Given the description of an element on the screen output the (x, y) to click on. 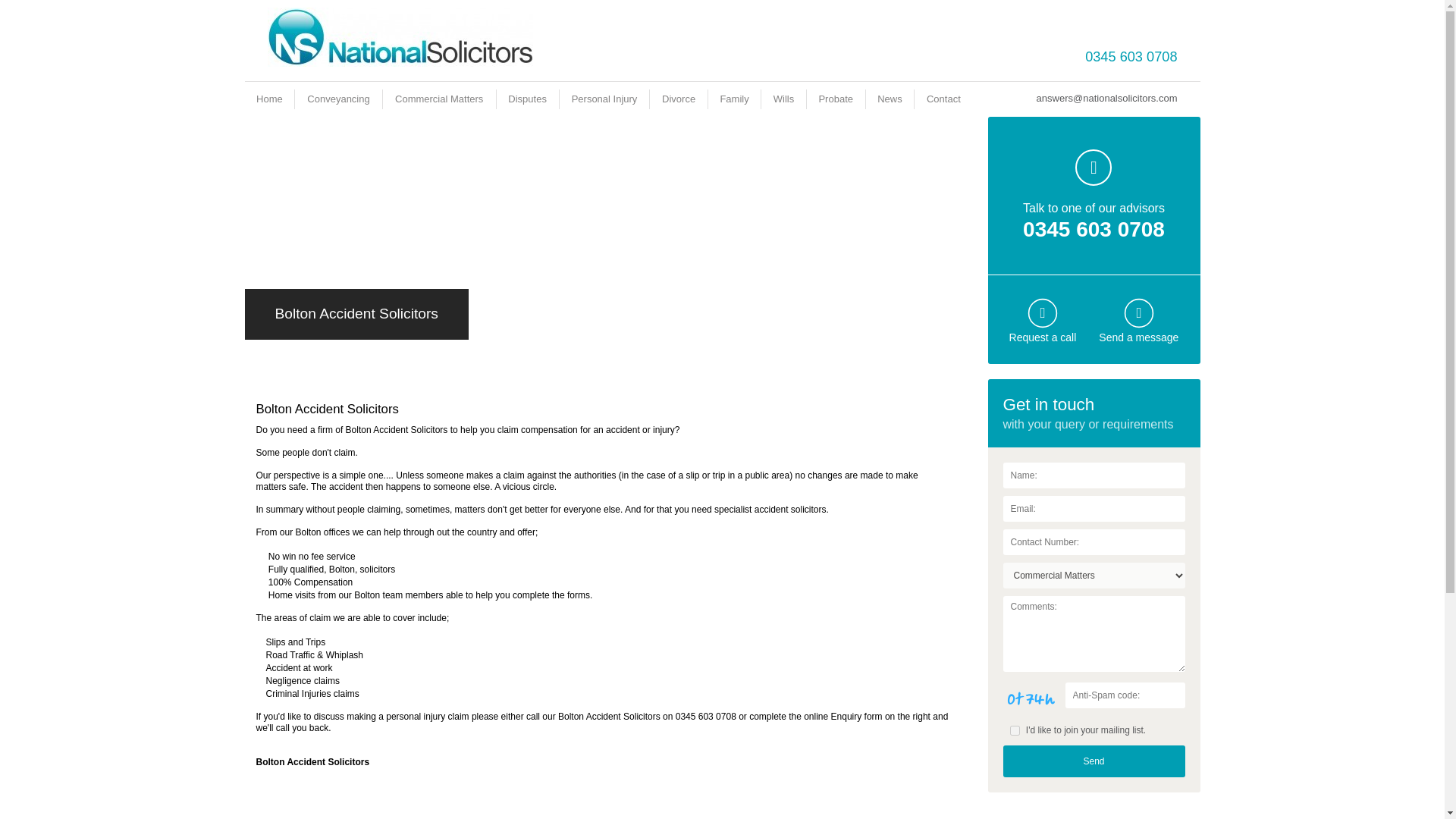
Divorce (678, 98)
Disputes (527, 98)
0345 603 0708 (1130, 56)
Send a message (1138, 337)
Conveyancing (338, 98)
Send (1094, 761)
Family (733, 98)
Probate (835, 98)
1 (1015, 730)
Home (269, 98)
